Given the description of an element on the screen output the (x, y) to click on. 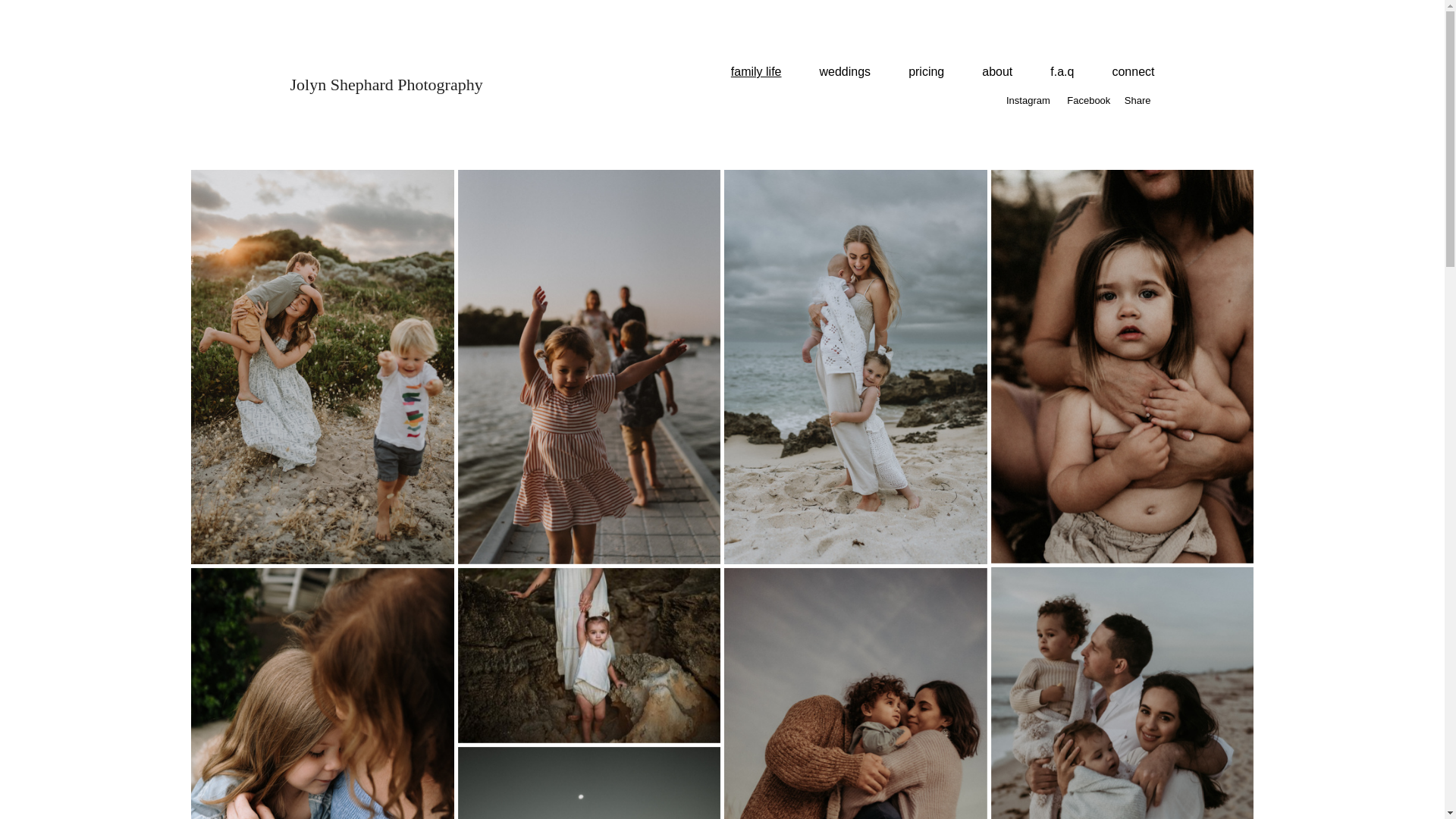
Share Element type: text (1137, 100)
Instagram Element type: text (1028, 100)
Jolyn Shephard Photography Element type: text (385, 84)
Facebook Element type: text (1088, 100)
family life Element type: text (756, 71)
f.a.q Element type: text (1061, 71)
about Element type: text (997, 71)
pricing Element type: text (926, 71)
connect Element type: text (1132, 71)
weddings Element type: text (845, 71)
